Given the description of an element on the screen output the (x, y) to click on. 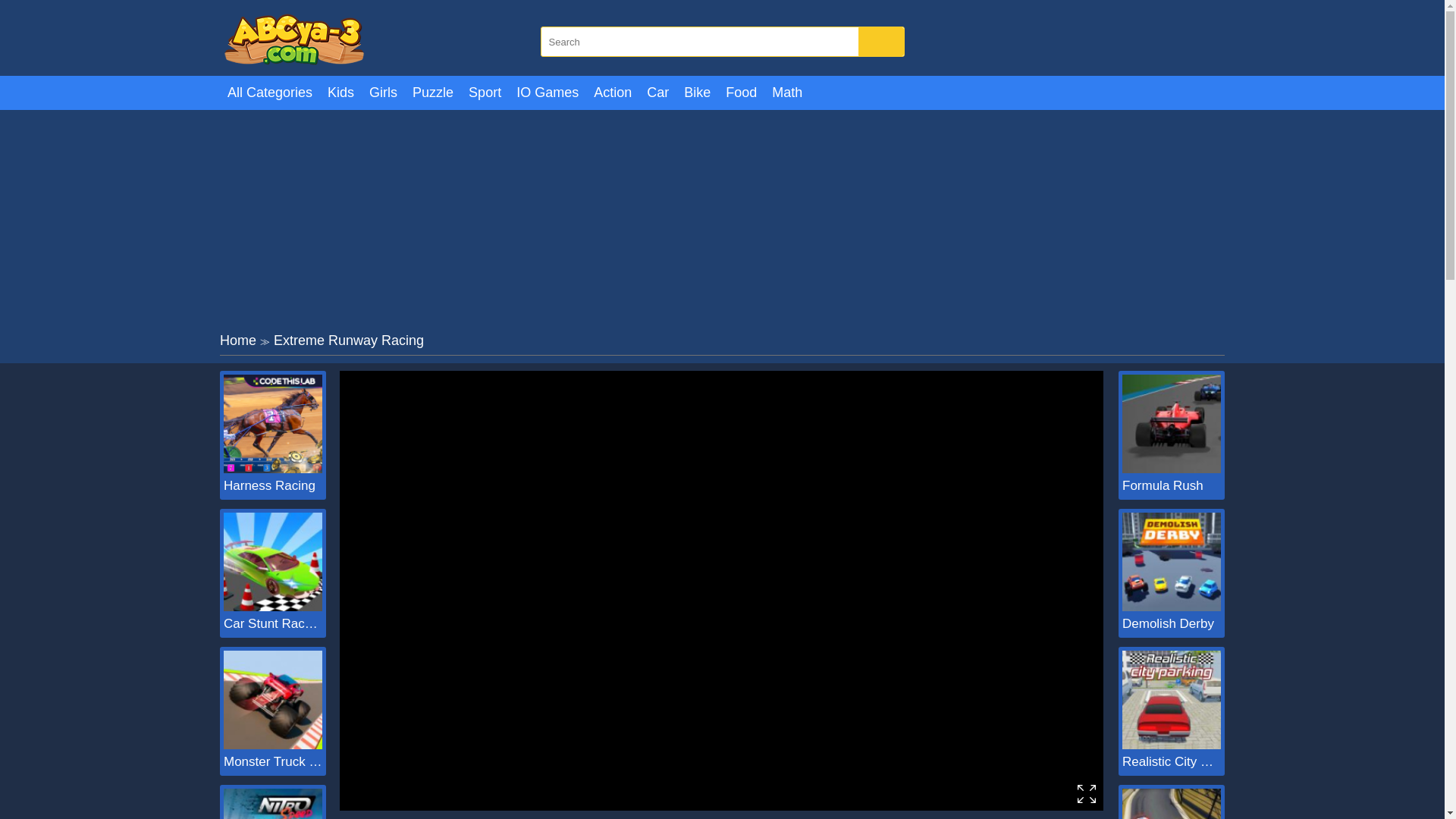
Sport (484, 92)
Math (786, 92)
Monster Truck Sky Racing (272, 761)
Formula Rush (1171, 485)
IO Games (547, 92)
Sport (484, 92)
Bike (697, 92)
Girls (382, 92)
Car Stunt Races Mega Ramps 2 (272, 623)
